Given the description of an element on the screen output the (x, y) to click on. 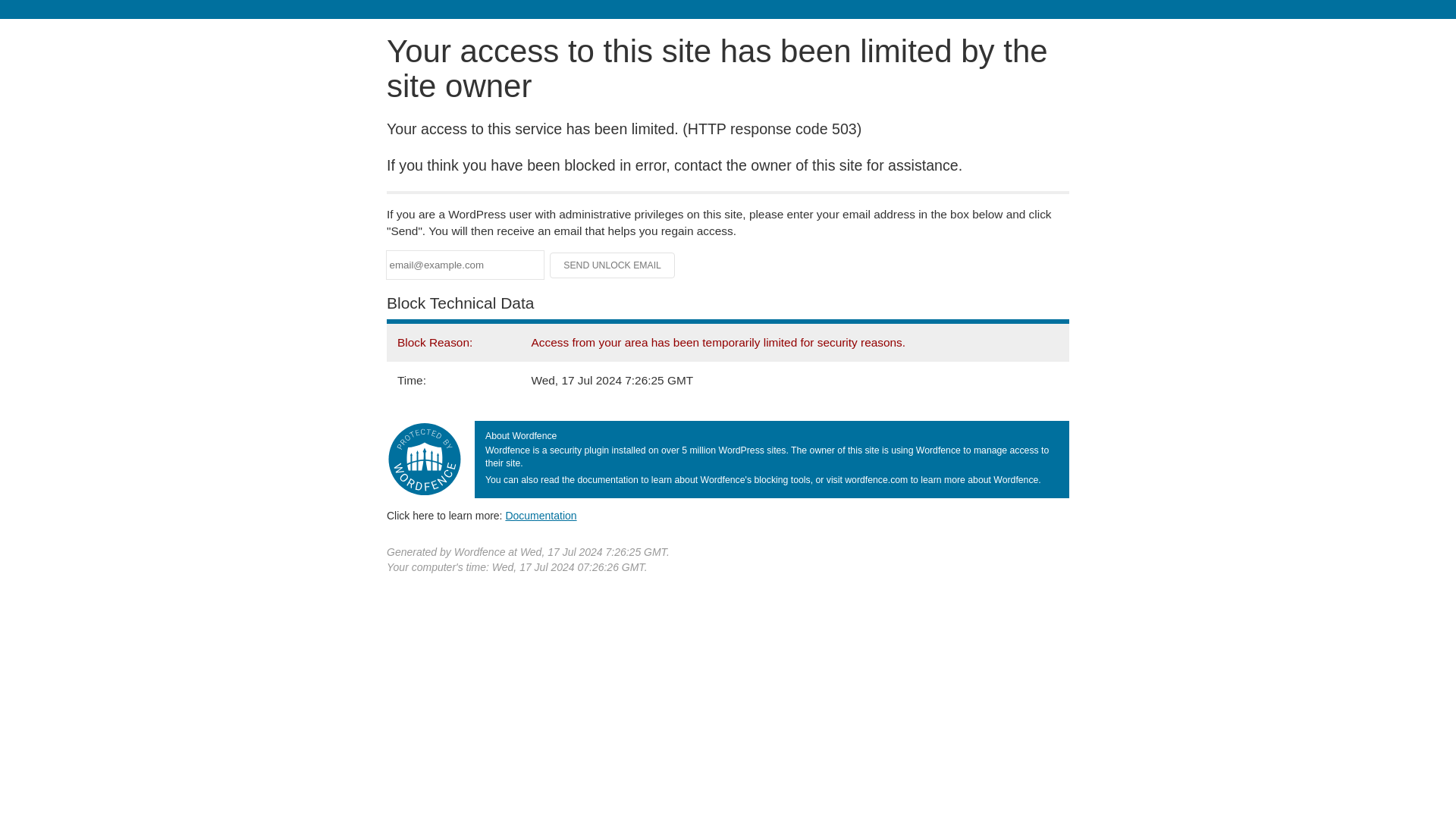
Send Unlock Email (612, 265)
Send Unlock Email (612, 265)
Documentation (540, 515)
